Given the description of an element on the screen output the (x, y) to click on. 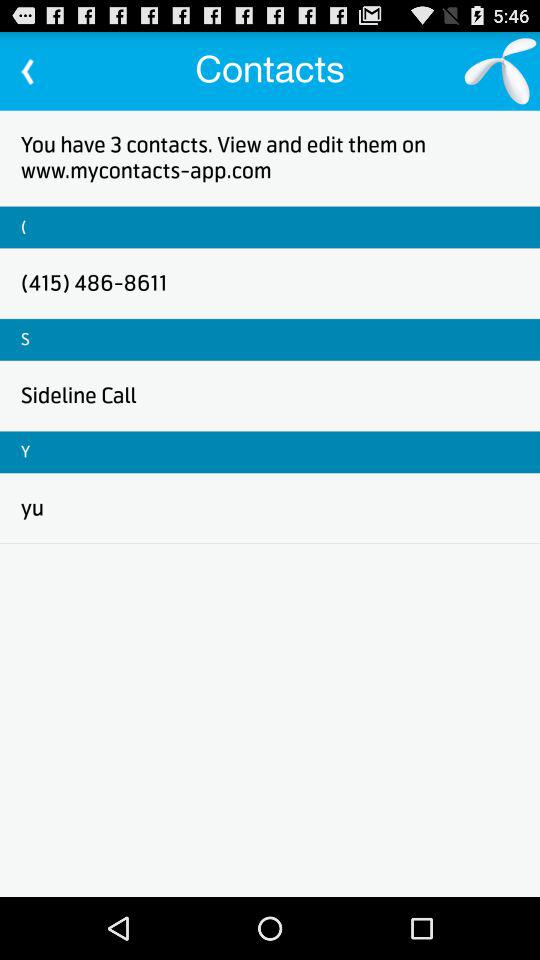
turn off the item above s (94, 282)
